Given the description of an element on the screen output the (x, y) to click on. 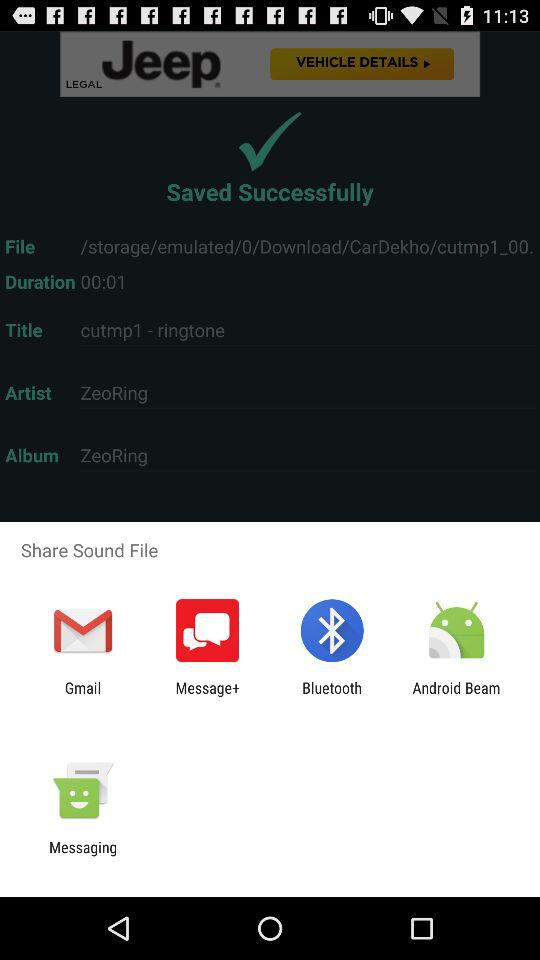
launch the icon next to message+ item (331, 696)
